Given the description of an element on the screen output the (x, y) to click on. 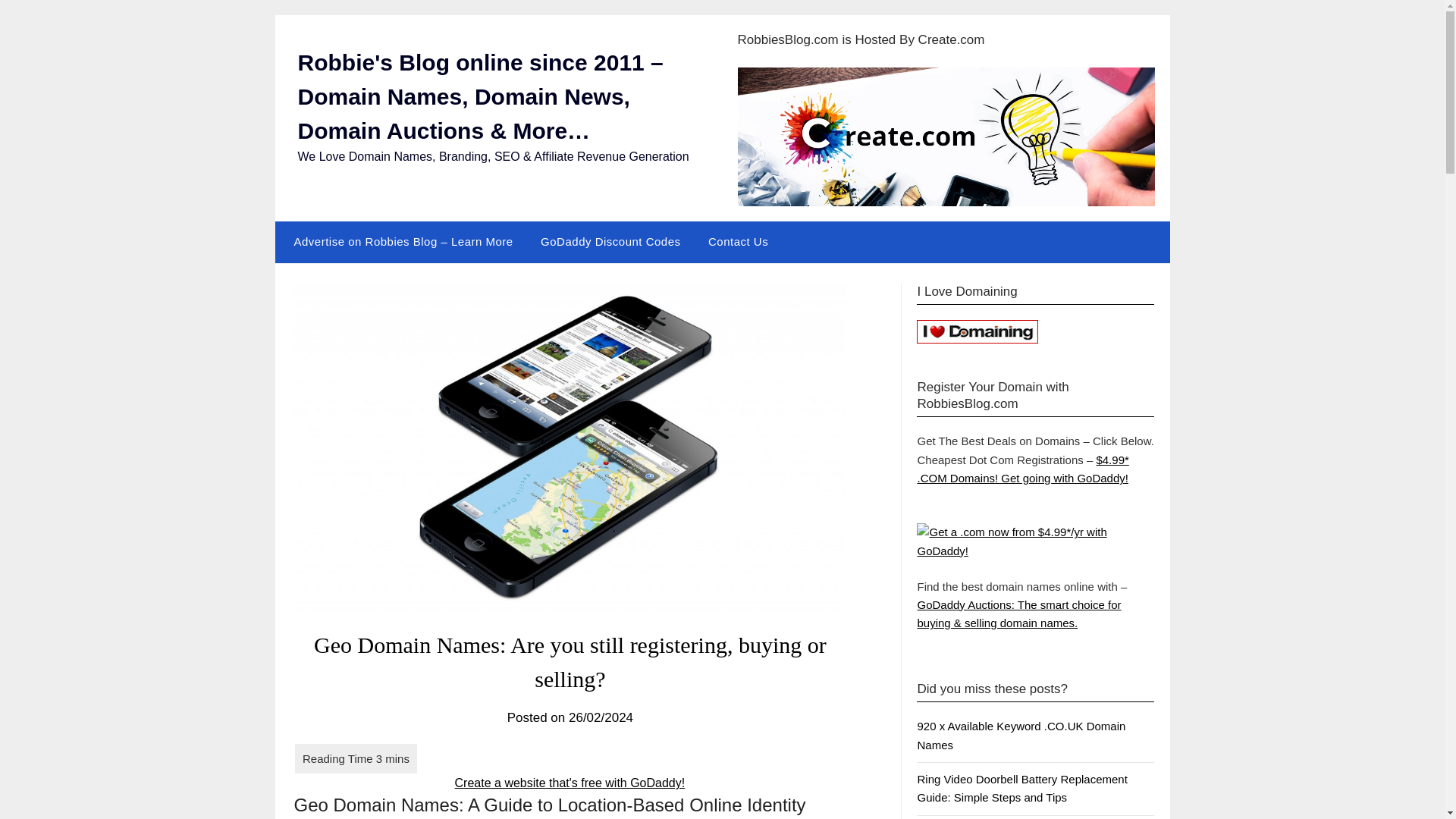
GoDaddy Discount Codes (610, 241)
I love domaining and support the domain industry (977, 331)
Create a website that's free with GoDaddy! (569, 782)
Contact Us (737, 241)
920 x Available Keyword .CO.UK Domain Names (1021, 735)
